Given the description of an element on the screen output the (x, y) to click on. 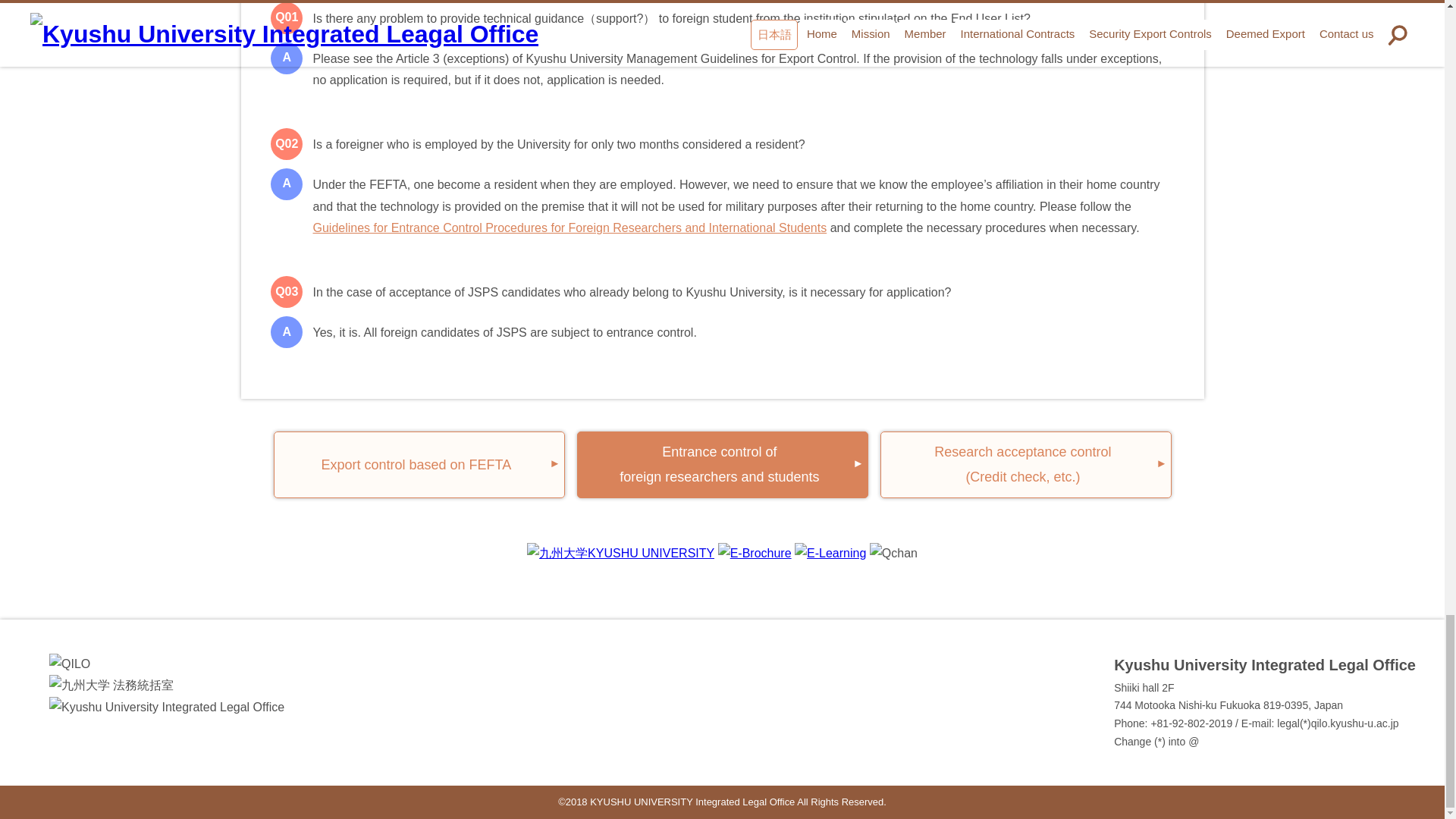
Export control based on FEFTA (721, 464)
